Given the description of an element on the screen output the (x, y) to click on. 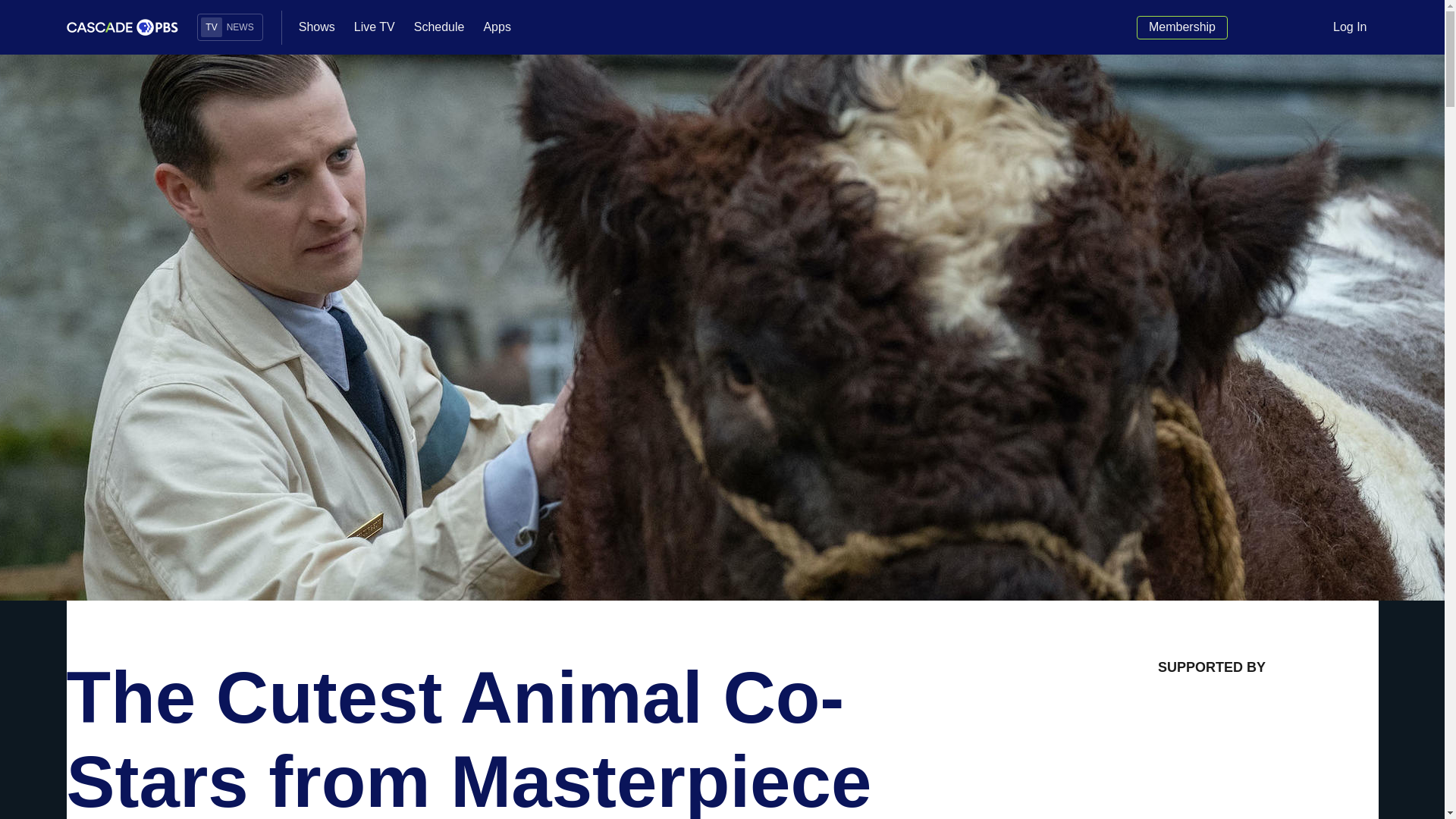
Live TV (374, 27)
NEWS (240, 26)
Schedule (438, 27)
Apps (496, 27)
Membership (1182, 26)
3rd party ad content (1210, 756)
Log In (1349, 26)
TV (210, 26)
Shows (316, 27)
